Given the description of an element on the screen output the (x, y) to click on. 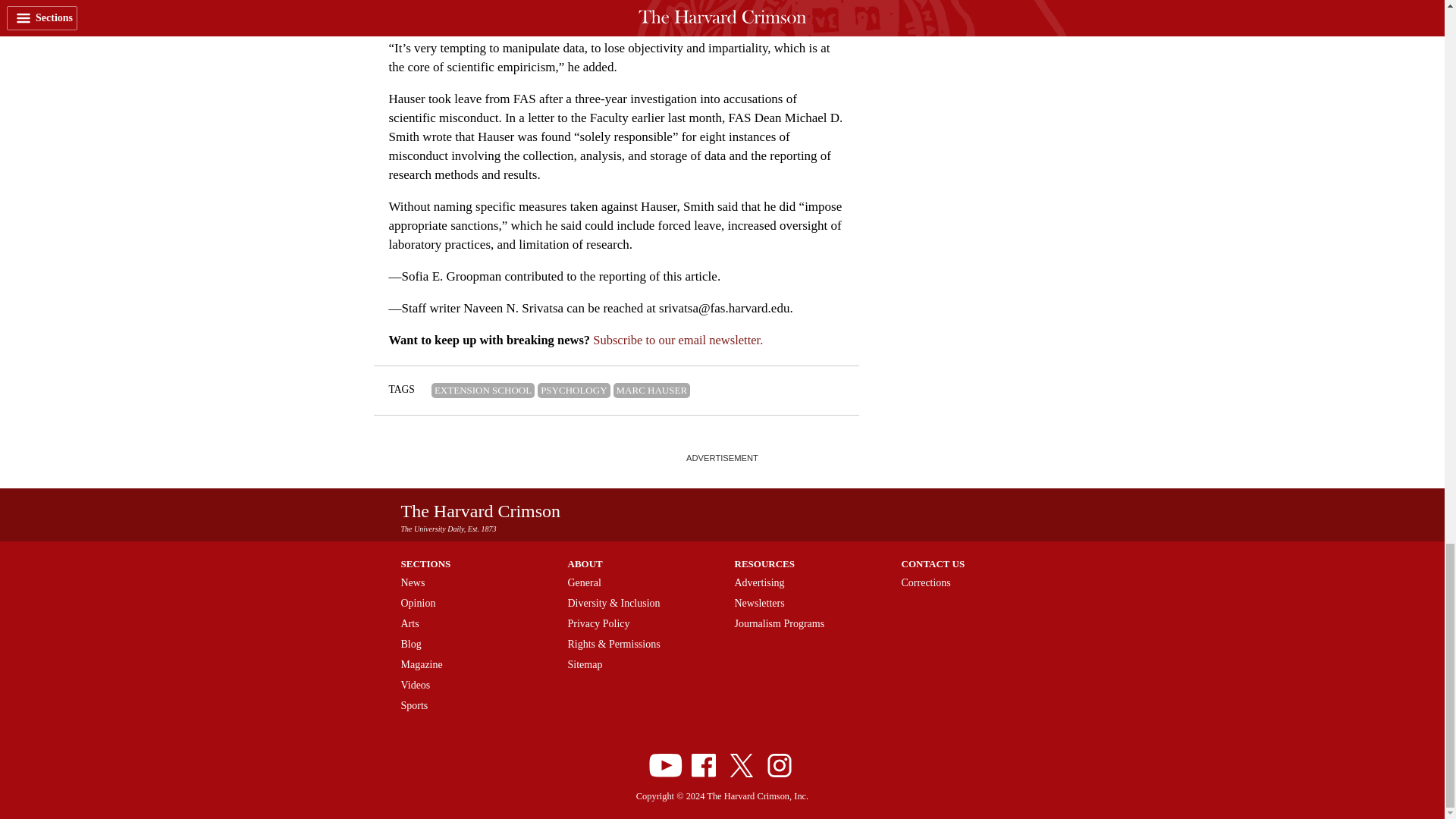
EXTENSION SCHOOL (482, 390)
MARC HAUSER (651, 390)
PSYCHOLOGY (573, 390)
Subscribe to our email newsletter. (677, 339)
